Given the description of an element on the screen output the (x, y) to click on. 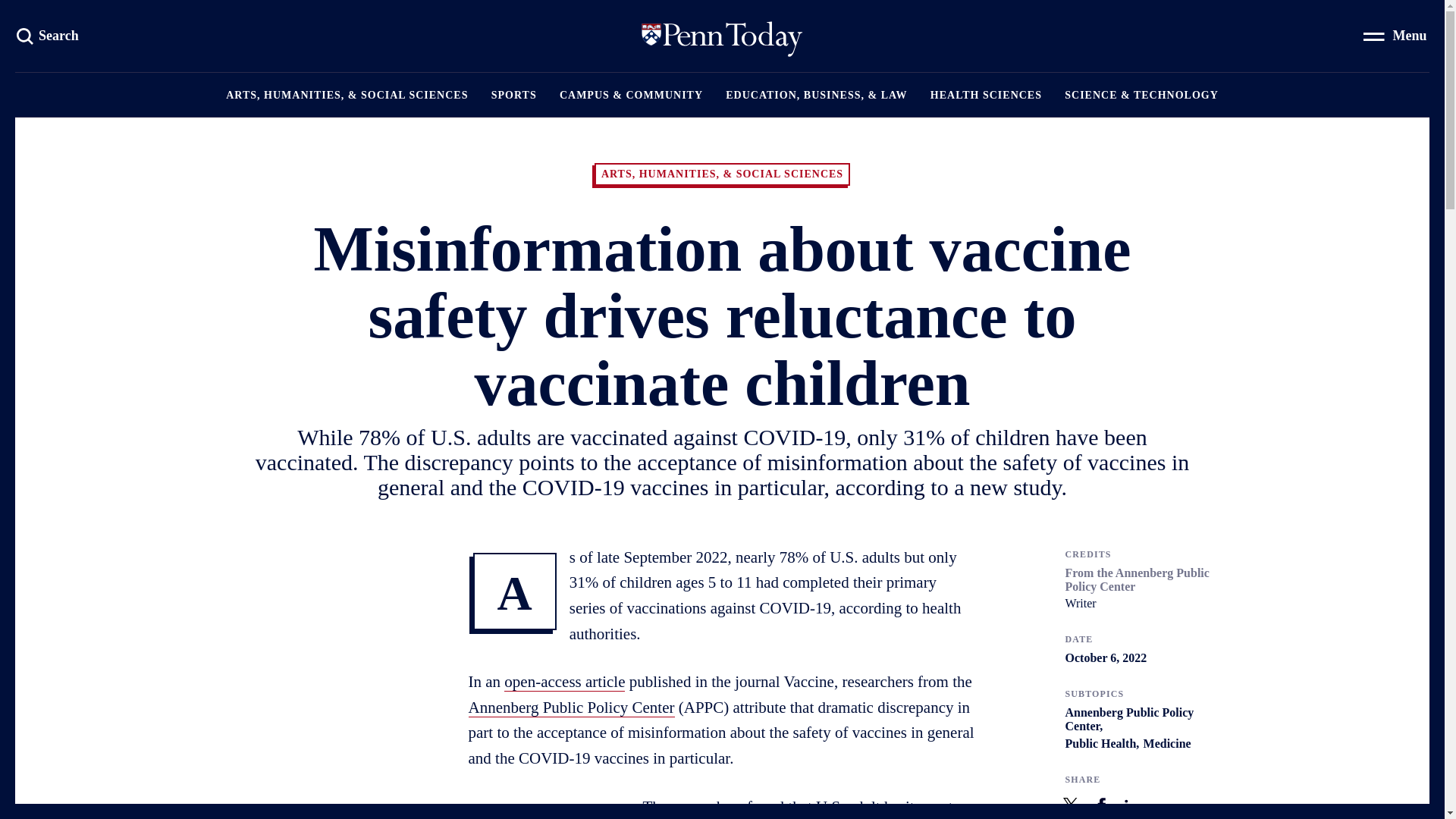
Share - LinkedIn (48, 35)
Penn Today Logo (1131, 805)
SKIP TO MAIN CONTENT (722, 35)
Search (168, 20)
HEALTH SCIENCES (48, 35)
Share - Facebook (986, 95)
SPORTS (1101, 805)
Share - Twitter (514, 95)
